Given the description of an element on the screen output the (x, y) to click on. 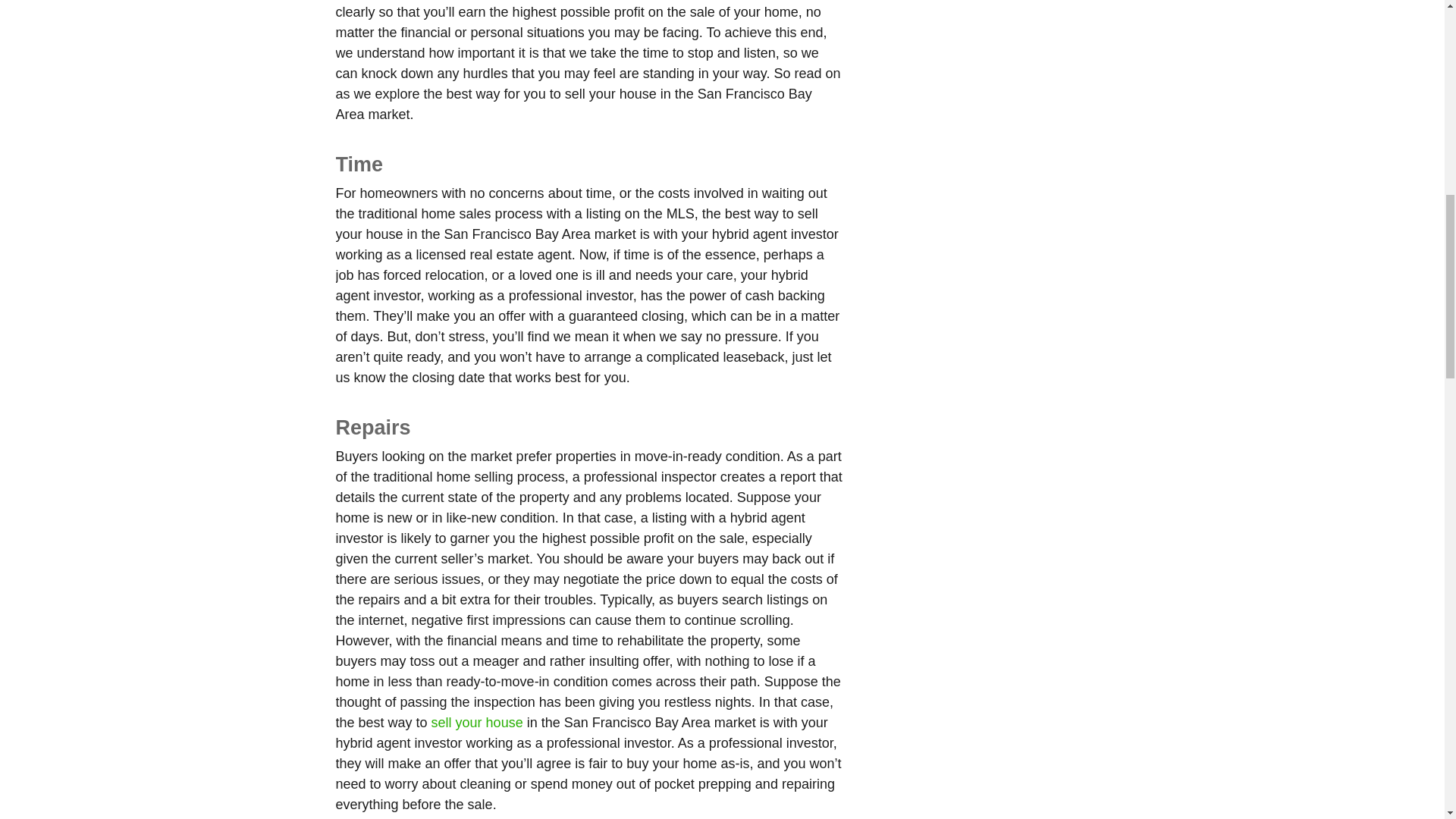
sell your house (476, 722)
